Given the description of an element on the screen output the (x, y) to click on. 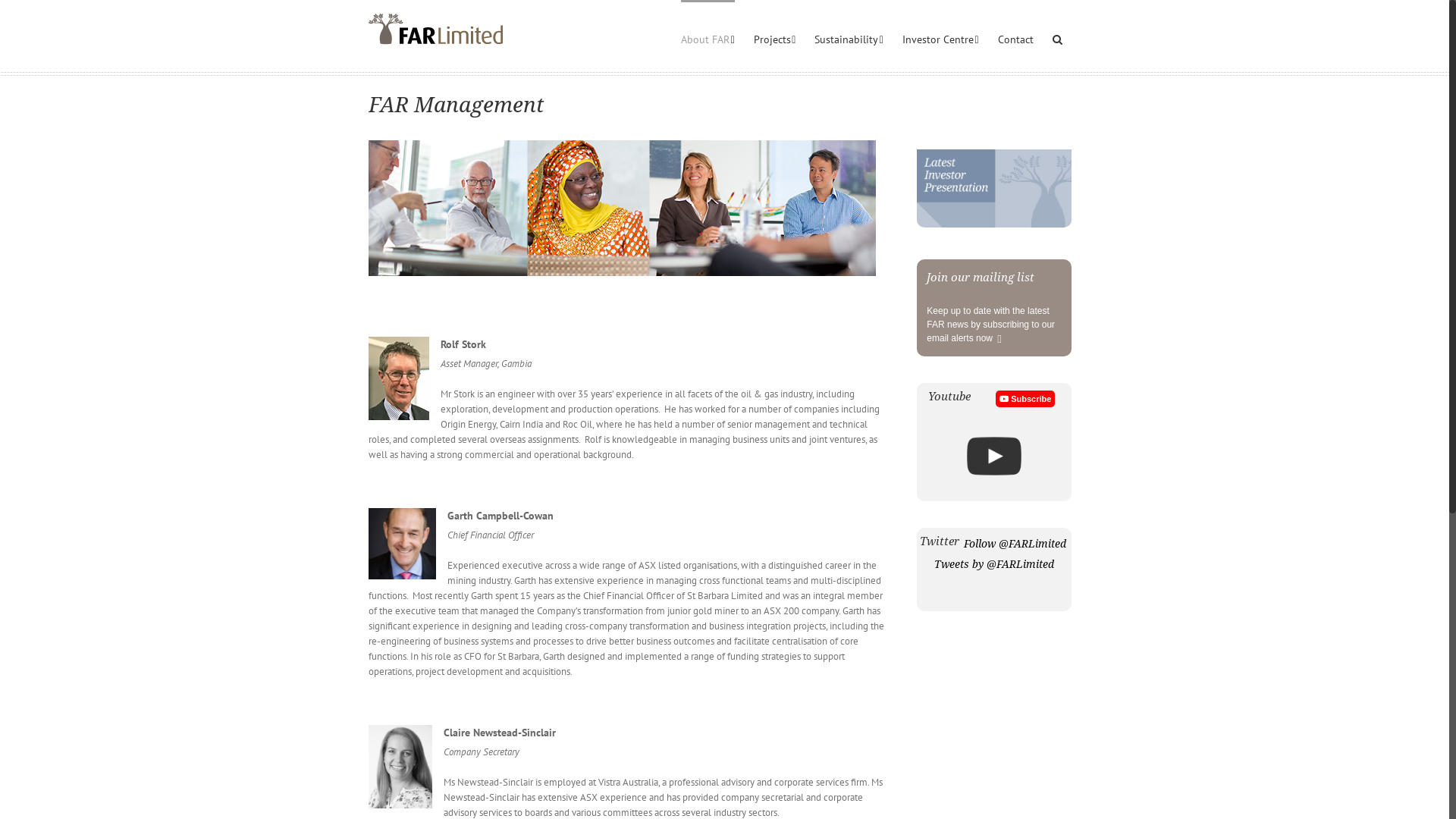
Search Element type: hover (1057, 38)
Join our mailing list Element type: text (993, 277)
About FAR Element type: text (707, 38)
Contact Element type: text (1015, 38)
Investor Centre Element type: text (940, 38)
Tweets by @FARLimited Element type: text (994, 564)
Follow @FARLimited Element type: text (1014, 543)
RIU Good Oil Presentation 2021 Element type: hover (993, 456)
Projects Element type: text (774, 38)
Subscribe Element type: text (1024, 398)
Sustainability Element type: text (848, 38)
